Given the description of an element on the screen output the (x, y) to click on. 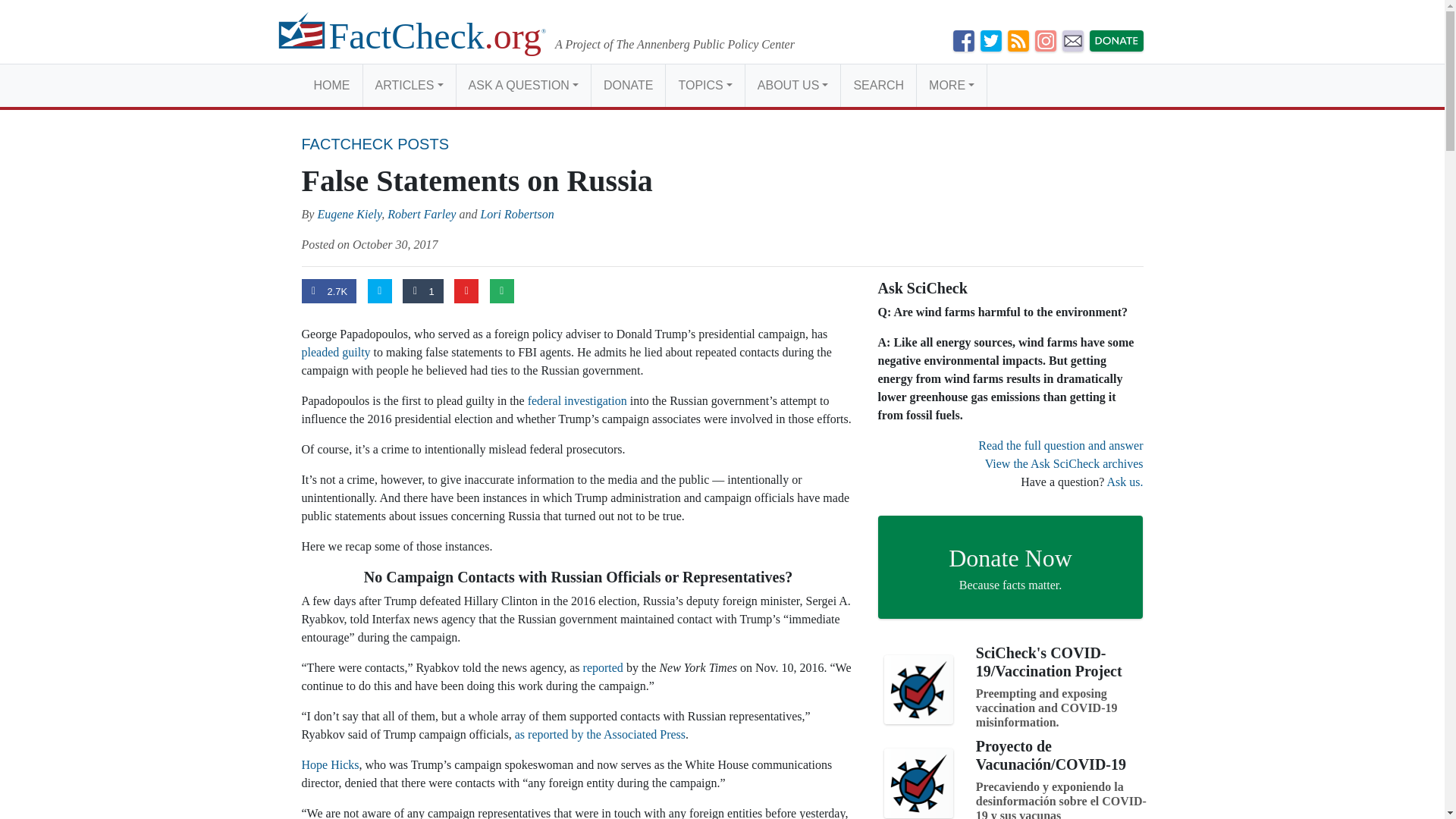
Articles (408, 85)
HOME (331, 85)
Topics (704, 85)
Ask a Question (524, 85)
ABOUT US (792, 85)
TOPICS (704, 85)
ASK A QUESTION (524, 85)
DONATE (627, 85)
ARTICLES (408, 85)
Home (331, 85)
